Given the description of an element on the screen output the (x, y) to click on. 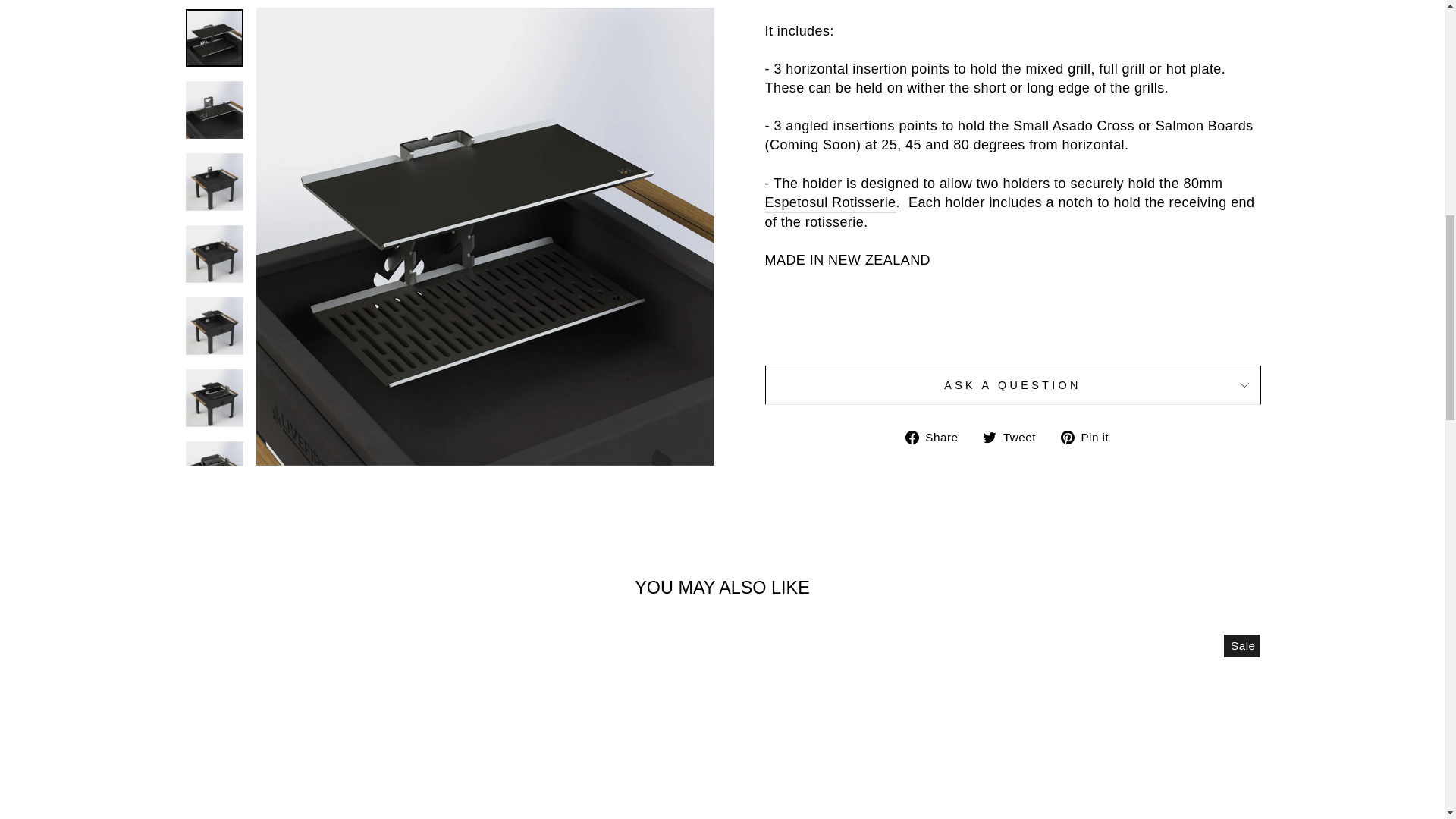
twitter (988, 437)
Share on Facebook (937, 436)
Pin on Pinterest (1090, 436)
Tweet on Twitter (1014, 436)
